Given the description of an element on the screen output the (x, y) to click on. 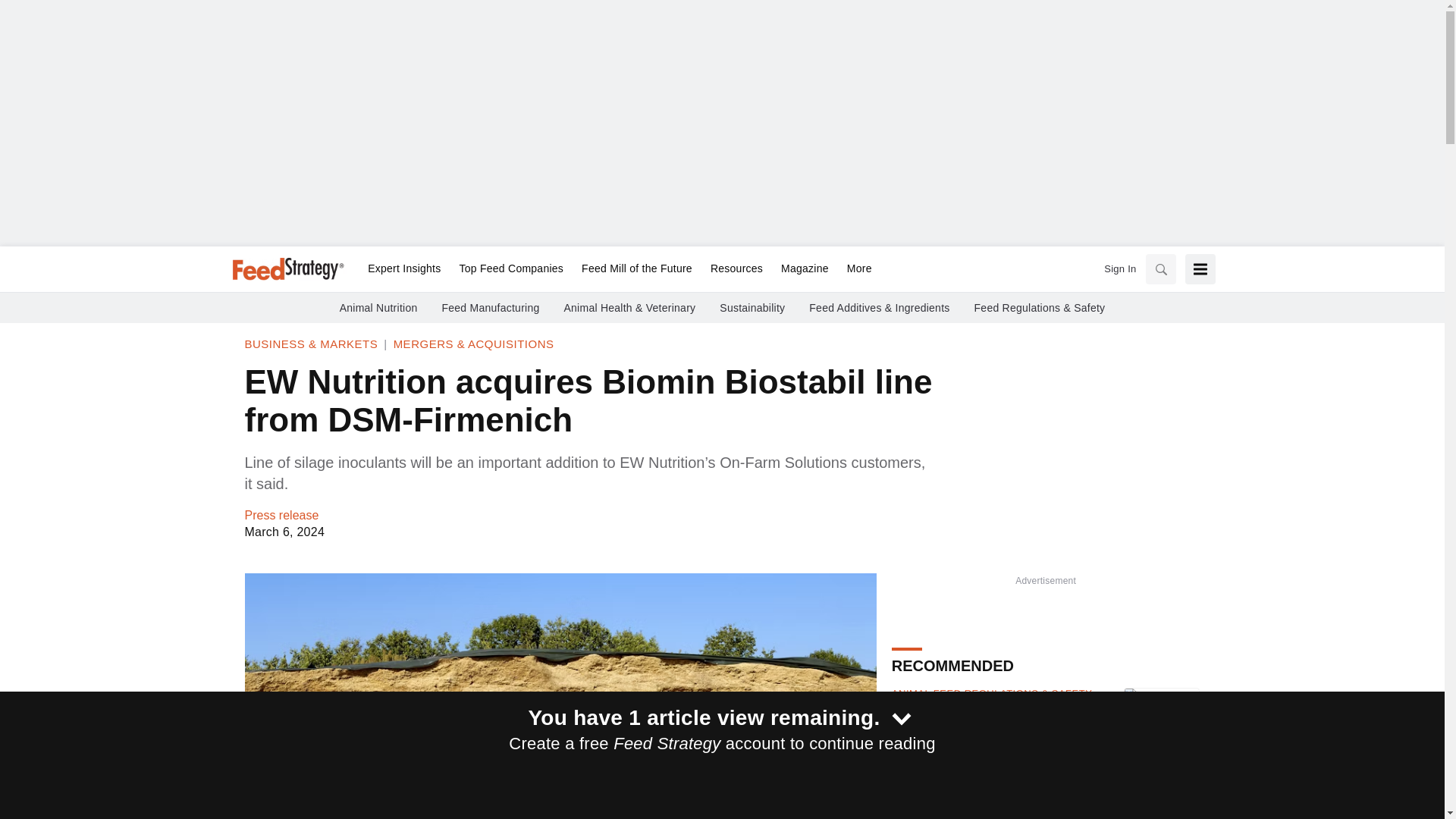
Resources (736, 269)
Sign In (1119, 268)
Animal Nutrition (378, 307)
Magazine (804, 269)
Feed Mill of the Future (636, 269)
Feed Manufacturing (489, 307)
Expert Insights (403, 269)
More (855, 269)
Sustainability (751, 307)
Top Feed Companies (511, 269)
